Given the description of an element on the screen output the (x, y) to click on. 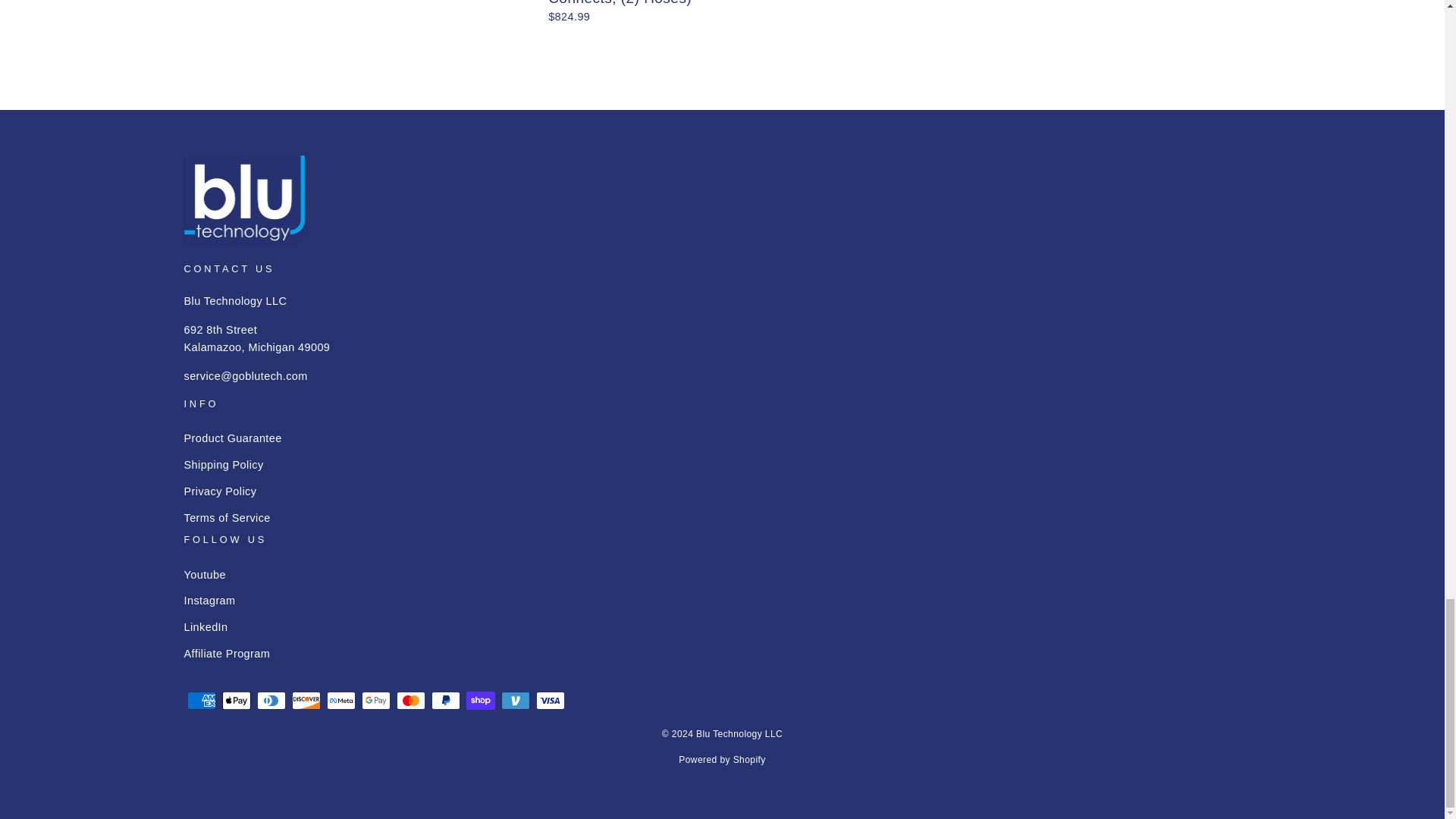
Diners Club (270, 700)
Meta Pay (340, 700)
PayPal (445, 700)
American Express (200, 700)
Mastercard (410, 700)
Apple Pay (235, 700)
Shop Pay (480, 700)
Discover (305, 700)
Google Pay (375, 700)
